Given the description of an element on the screen output the (x, y) to click on. 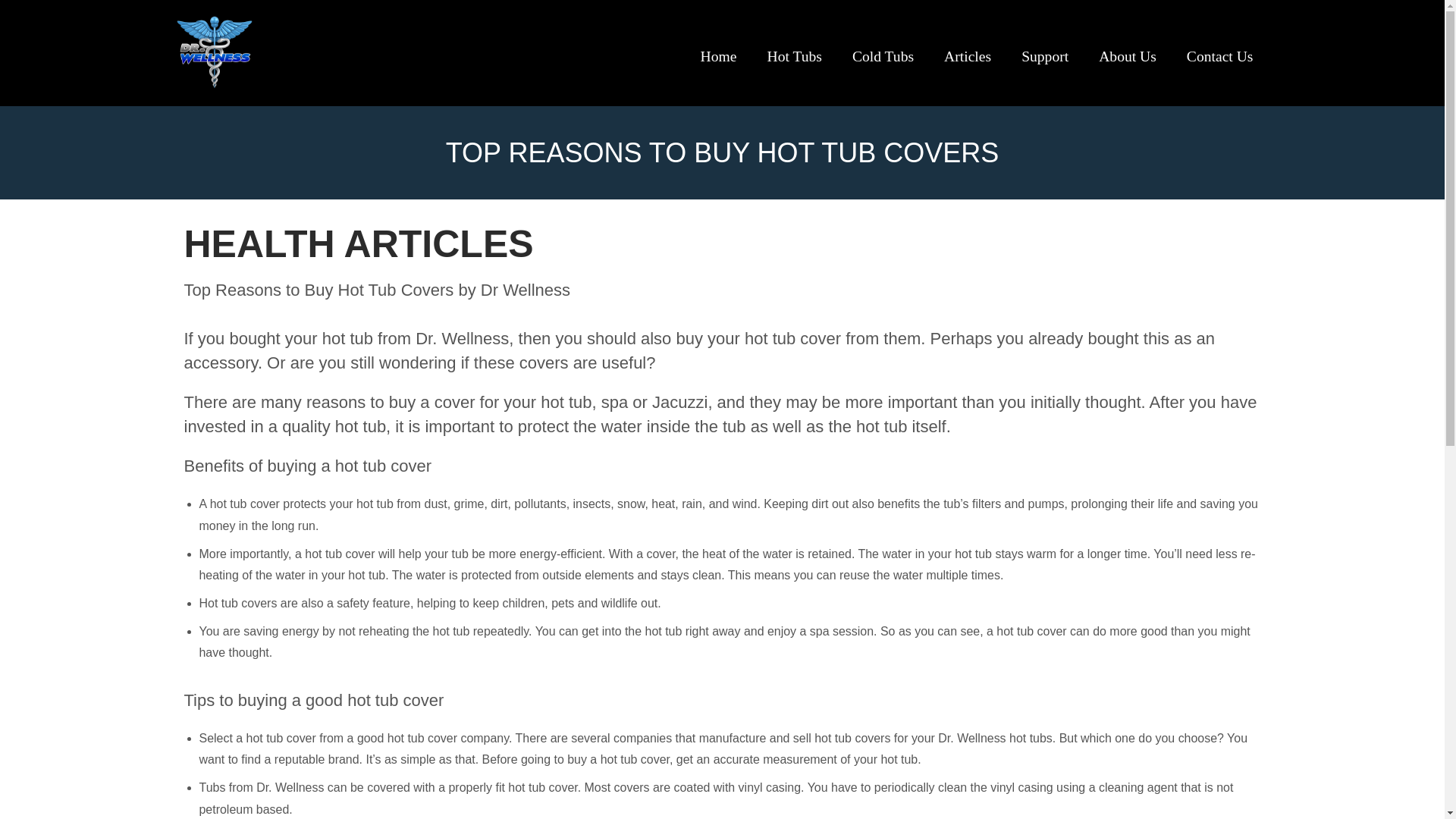
Support (1044, 52)
Contact Us (1220, 52)
About Us (1127, 52)
Hot Tubs (794, 52)
Cold Tubs (882, 52)
Articles (967, 52)
Home (718, 52)
